Given the description of an element on the screen output the (x, y) to click on. 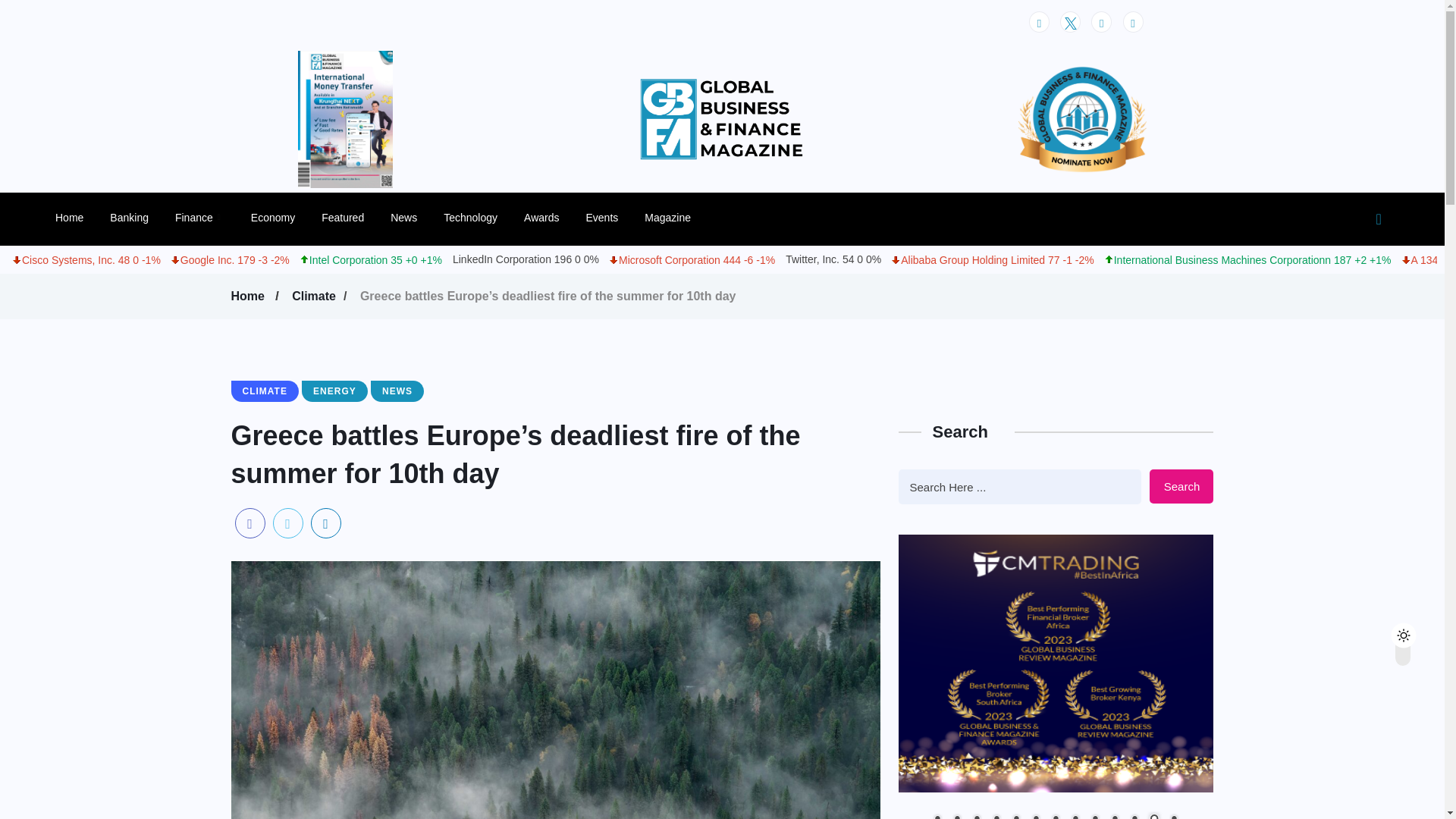
Featured (342, 216)
Magazine (667, 216)
Finance (199, 216)
Events (600, 216)
Home (68, 216)
Home (249, 296)
Banking (129, 216)
Awards (541, 216)
Technology (470, 216)
on (1415, 631)
News (403, 216)
Economy (272, 216)
